Given the description of an element on the screen output the (x, y) to click on. 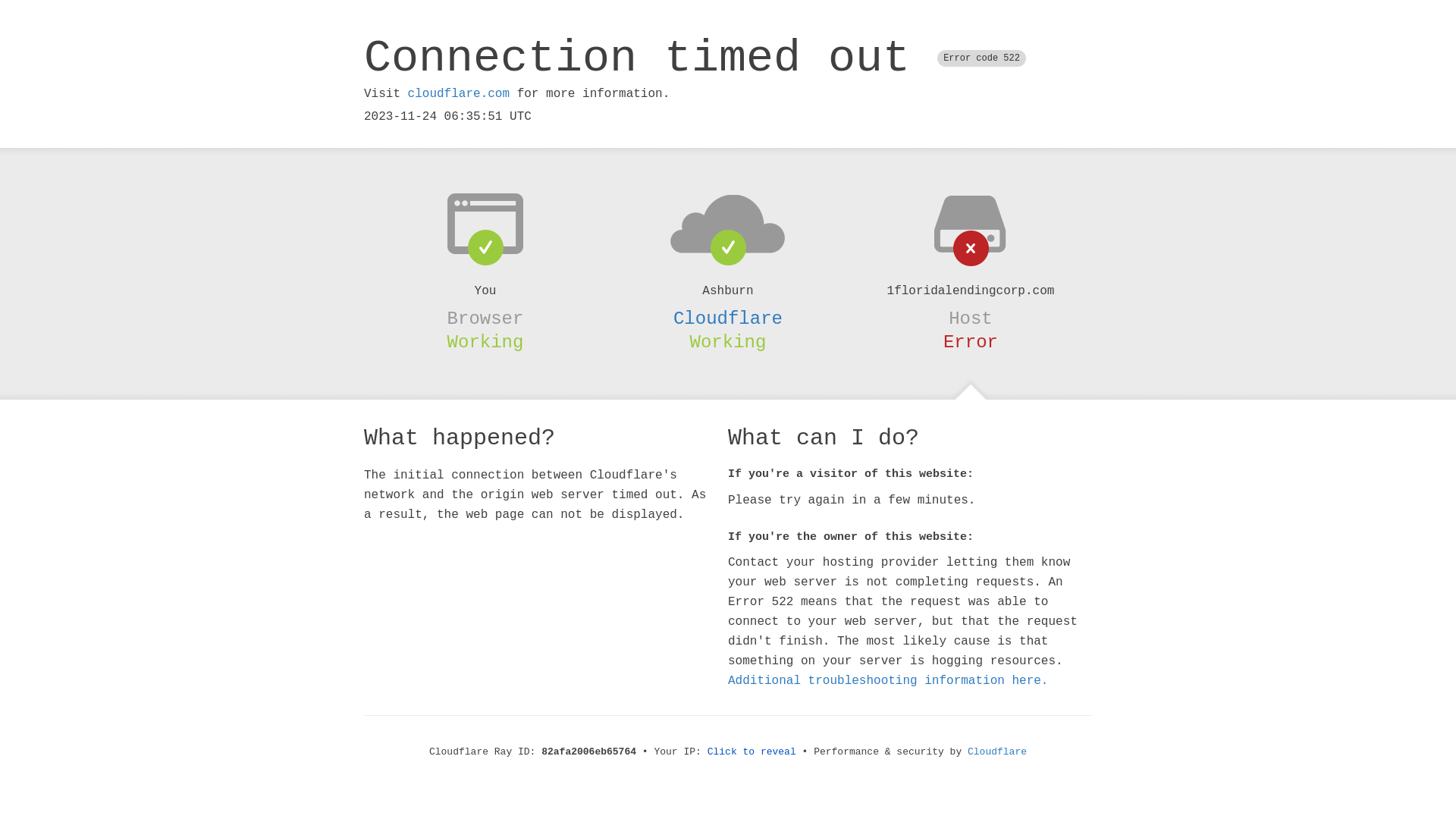
Additional troubleshooting information here. Element type: text (888, 680)
Click to reveal Element type: text (751, 751)
Cloudflare Element type: text (727, 318)
Cloudflare Element type: text (996, 751)
cloudflare.com Element type: text (458, 93)
